Given the description of an element on the screen output the (x, y) to click on. 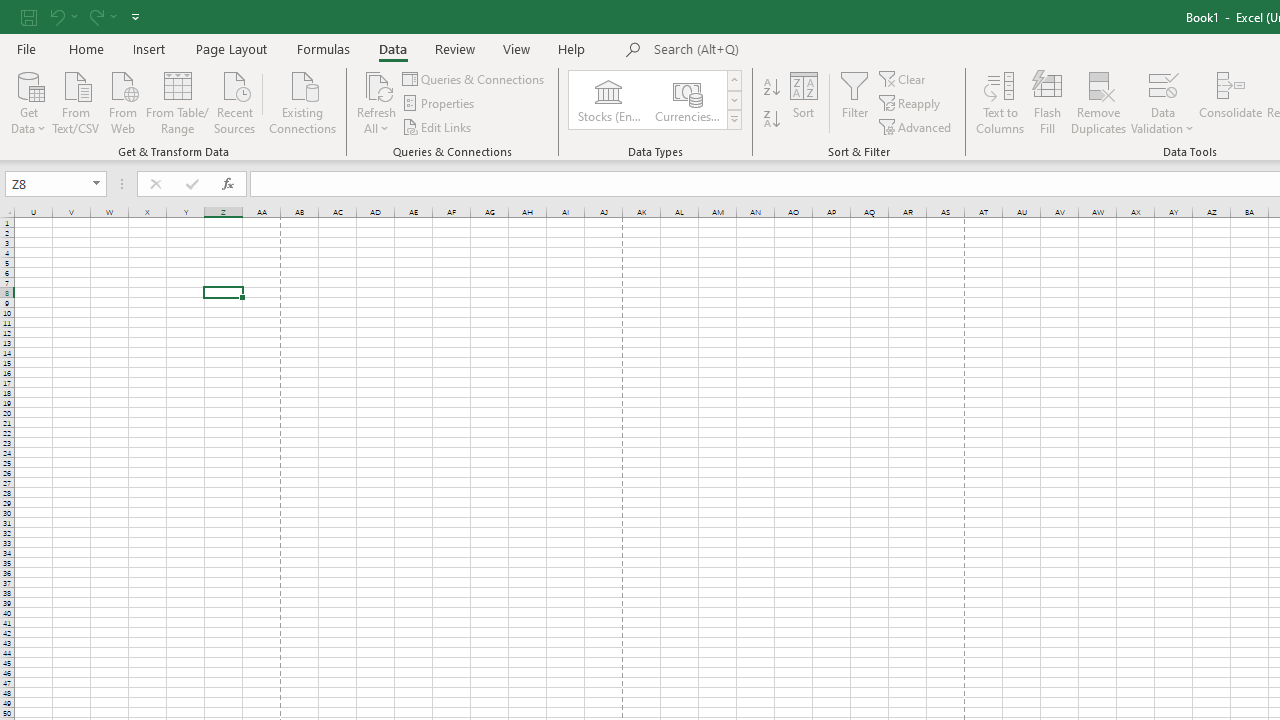
Class: NetUIImage (734, 119)
Clear (903, 78)
From Table/Range (177, 101)
Text to Columns... (1000, 102)
Remove Duplicates (1098, 102)
